Given the description of an element on the screen output the (x, y) to click on. 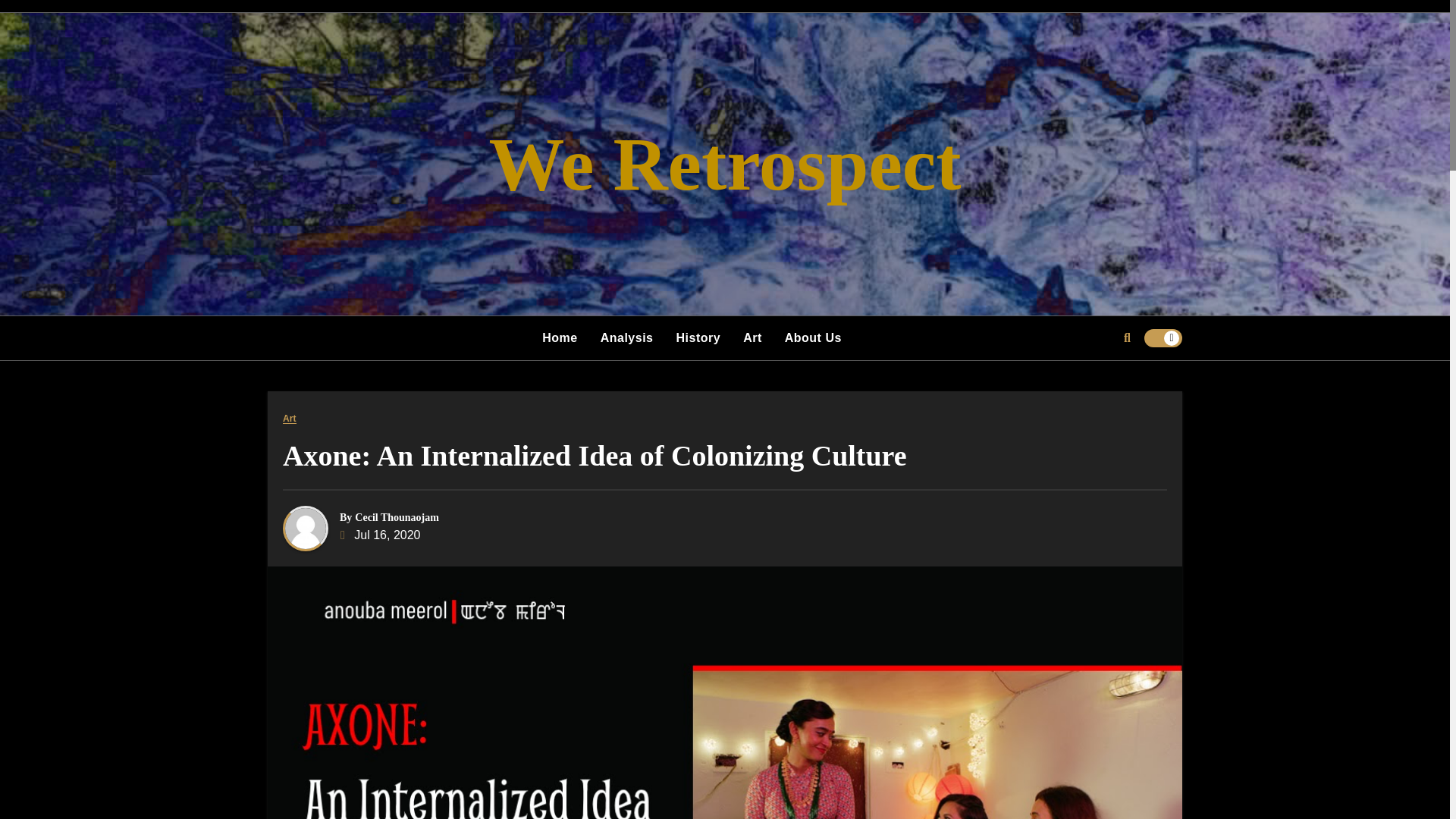
About Us (813, 338)
About Us (813, 338)
History (697, 338)
We Retrospect (724, 163)
Art (752, 338)
Home (559, 338)
Art (752, 338)
History (697, 338)
Analysis (627, 338)
